Given the description of an element on the screen output the (x, y) to click on. 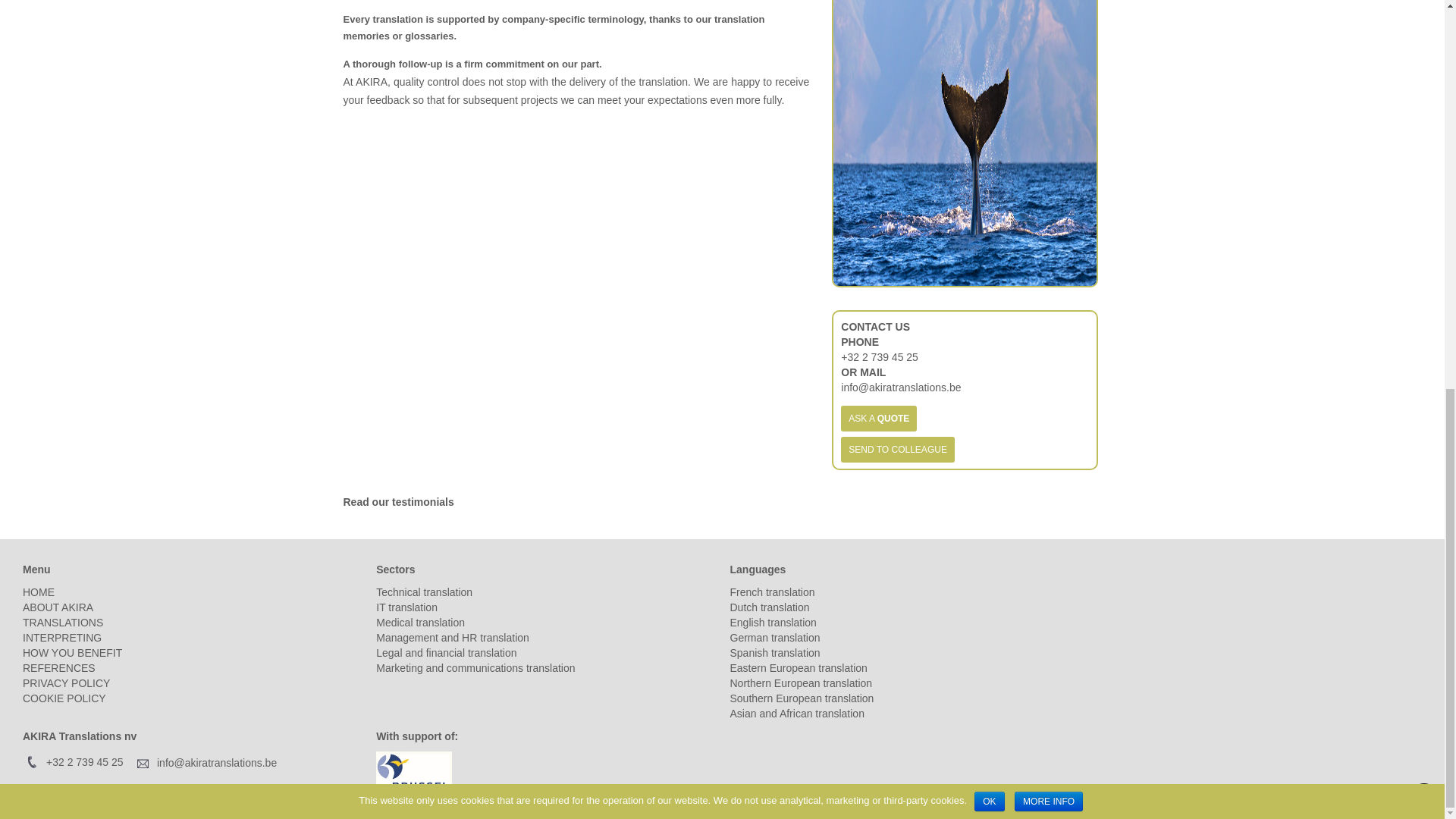
INTERPRETING (62, 637)
TRANSLATIONS (63, 622)
HOME (39, 592)
ABOUT AKIRA (58, 607)
SEND TO COLLEAGUE (898, 449)
ASK A QUOTE (879, 418)
Read our testimonials (397, 501)
